Given the description of an element on the screen output the (x, y) to click on. 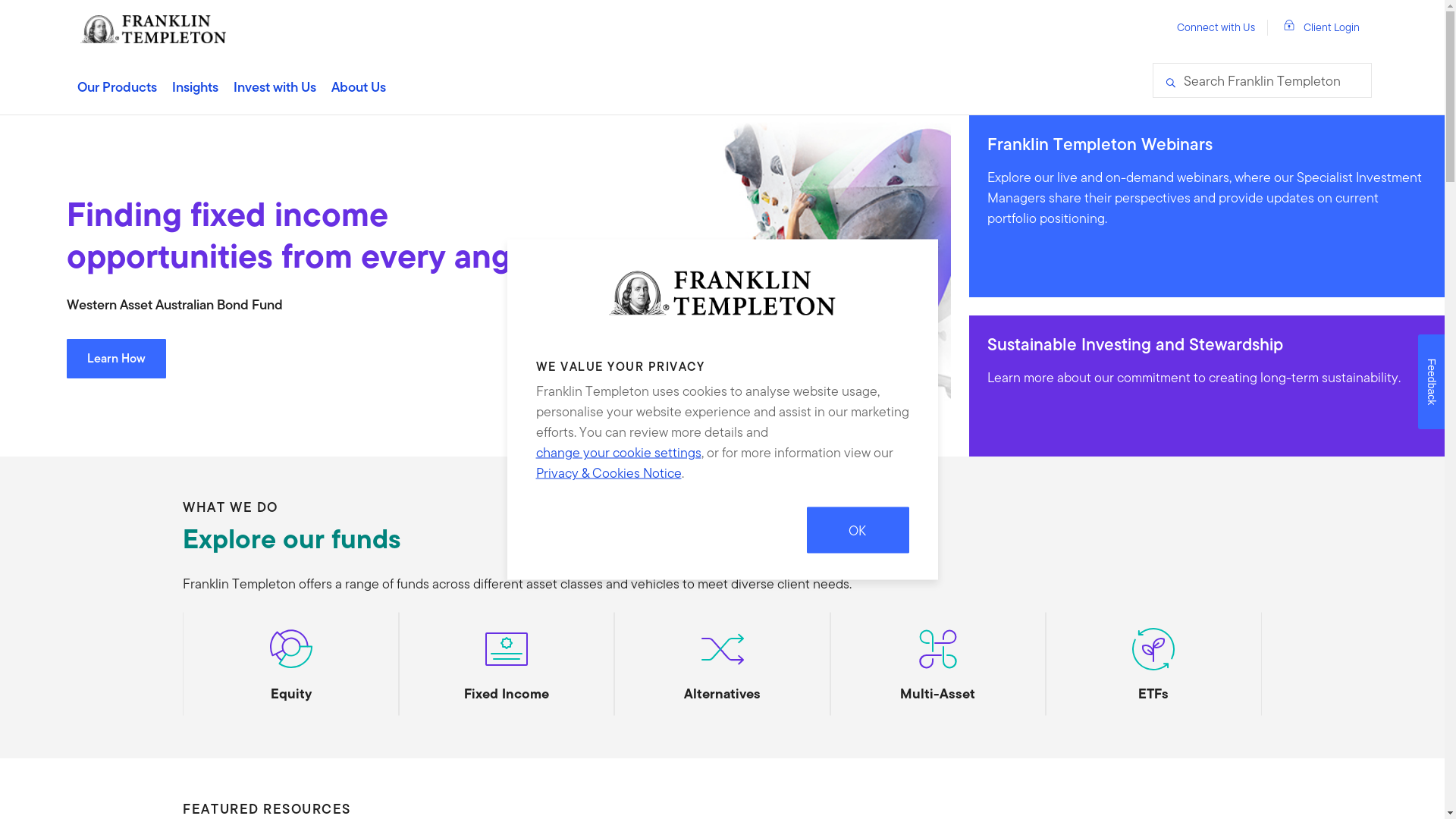
change your cookie settings Element type: text (617, 451)
Search Franklin Templeton Element type: text (1261, 79)
OK Element type: text (857, 529)
Insights Element type: text (194, 86)
Multi-Asset Element type: text (937, 663)
Client Login Element type: text (1320, 27)
Connect with Us Element type: text (1215, 27)
Alternatives Element type: text (721, 663)
ETFs Element type: text (1153, 663)
Fixed Income Element type: text (506, 663)
Invest with Us Element type: text (274, 86)
Our Products Element type: text (116, 86)
Equity Element type: text (290, 663)
Skip to content Element type: text (0, 0)
About Us Element type: text (358, 86)
Privacy & Cookies Notice Element type: text (607, 472)
Learn How Element type: text (116, 358)
